Given the description of an element on the screen output the (x, y) to click on. 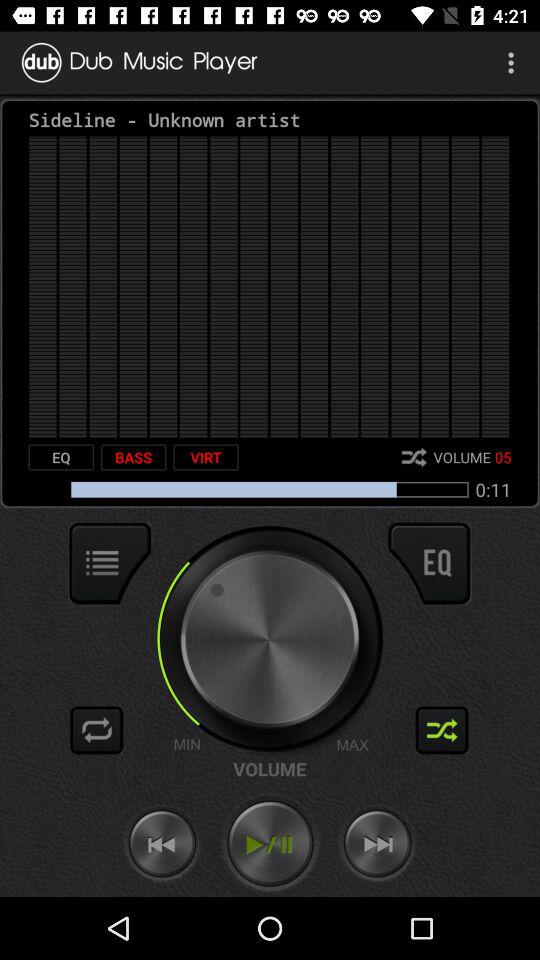
jump until bass  item (133, 457)
